Given the description of an element on the screen output the (x, y) to click on. 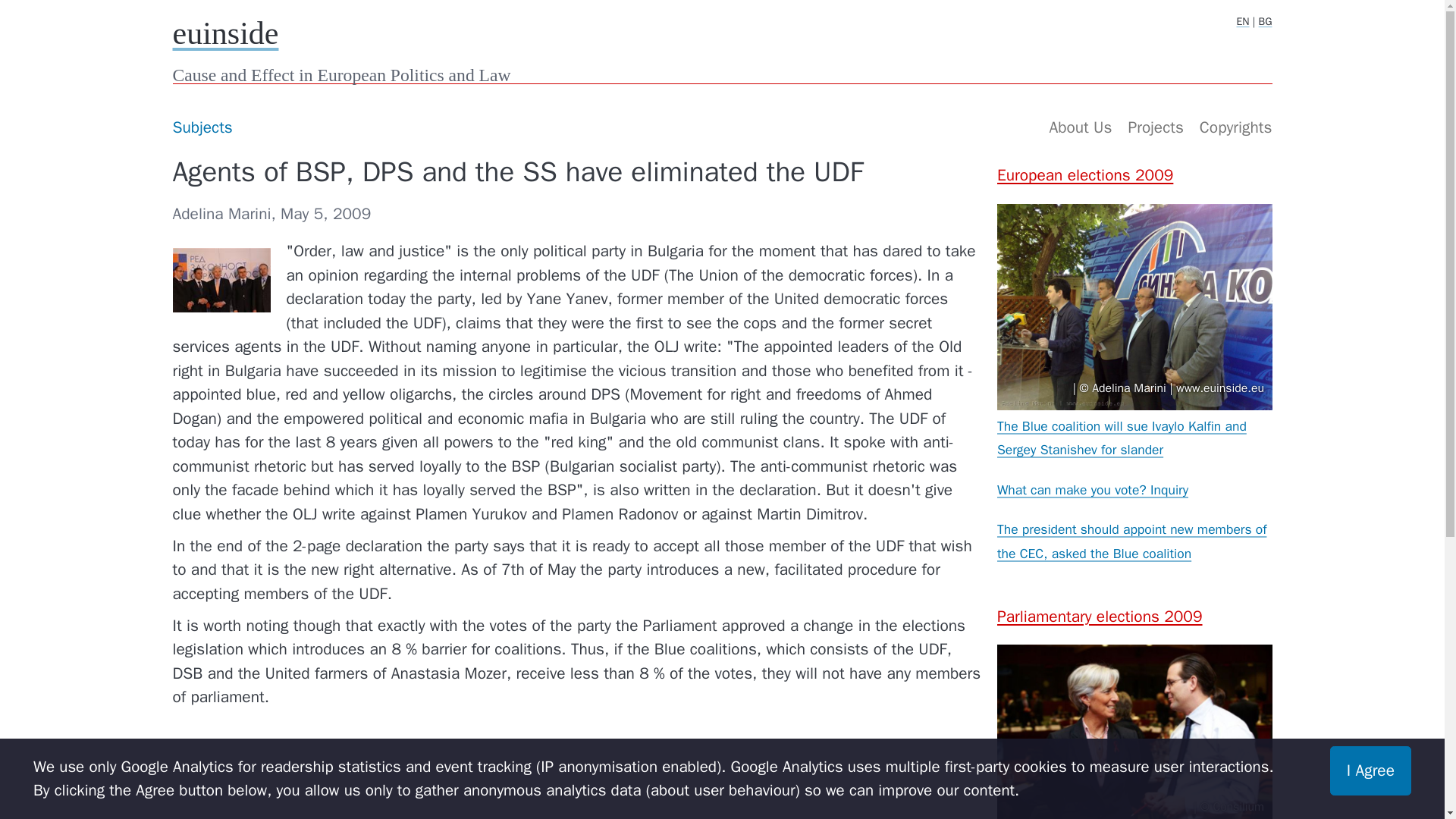
Subjects (202, 128)
euinside (226, 32)
